Given the description of an element on the screen output the (x, y) to click on. 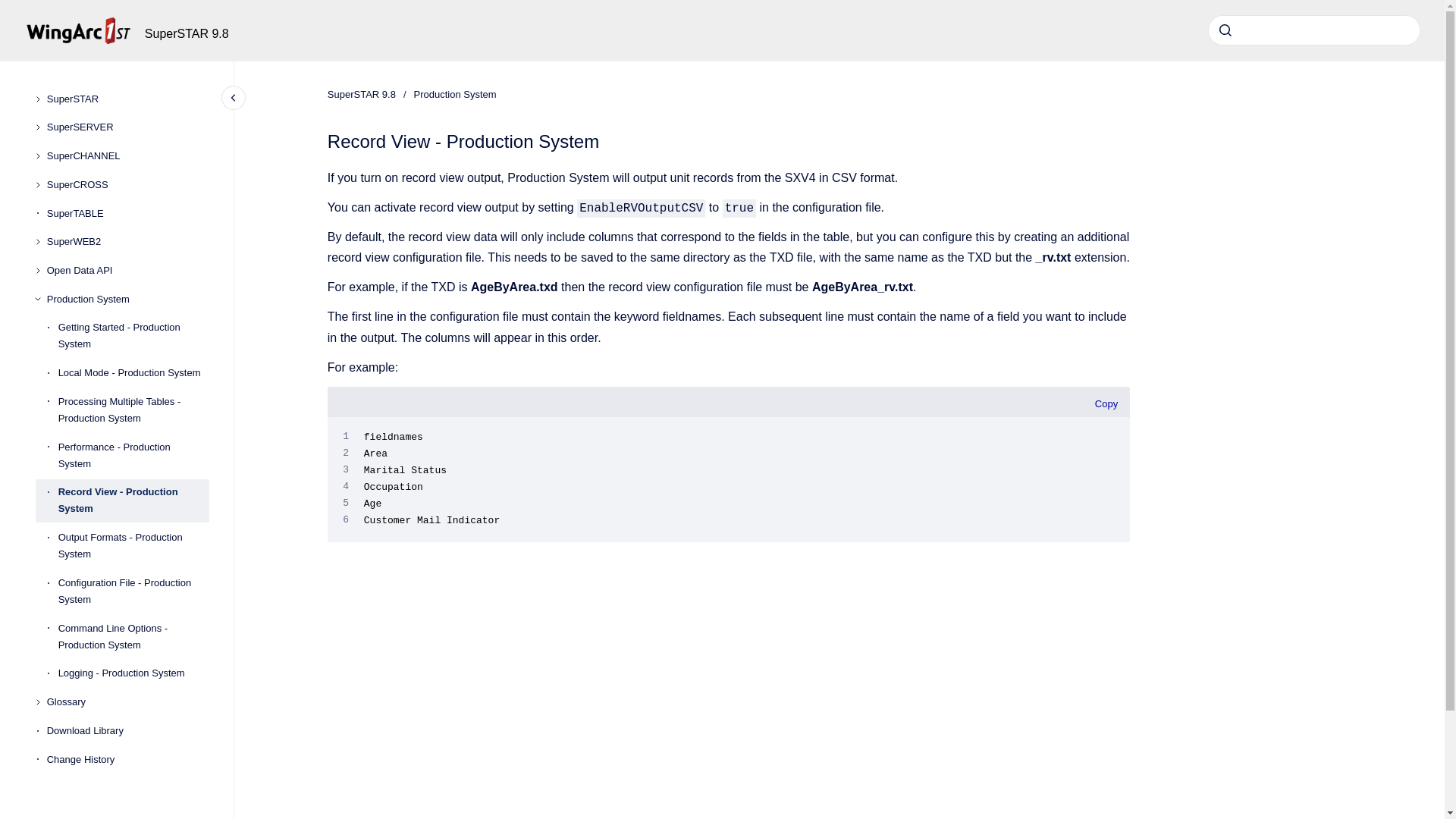
Record View - Production System (133, 501)
SuperSTAR 9.8 (361, 94)
Go to homepage (78, 30)
SuperCROSS (127, 185)
Production System (127, 298)
Glossary (127, 701)
Performance - Production System (133, 455)
Local Mode - Production System (133, 372)
SuperSERVER (127, 127)
Download Library (127, 730)
SuperSTAR 9.8 (186, 33)
SuperWEB2 (127, 241)
Open Data API (127, 270)
Configuration File - Production System (133, 591)
Production System (454, 94)
